Given the description of an element on the screen output the (x, y) to click on. 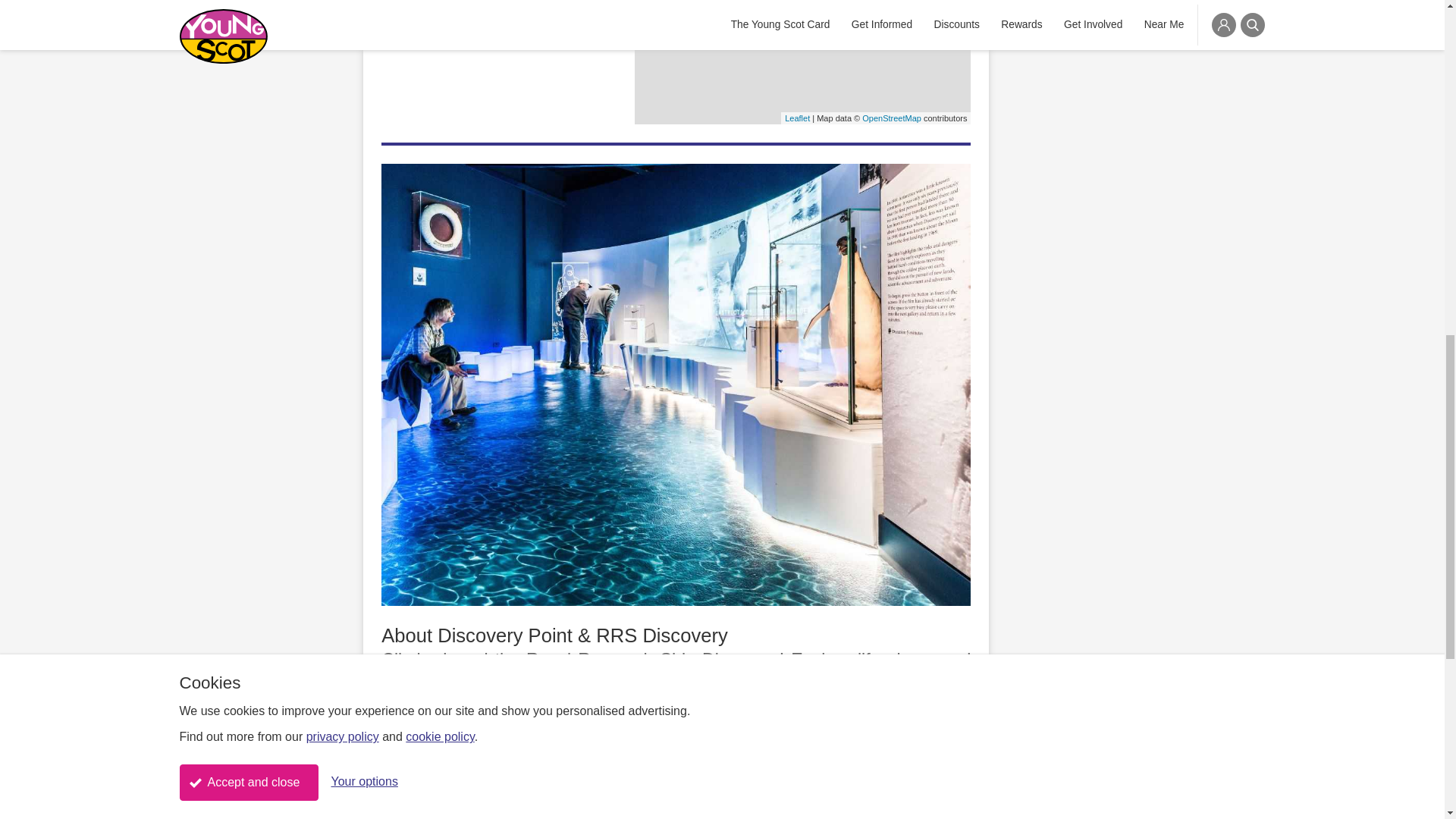
Leaflet (796, 117)
here (868, 792)
A JS library for interactive maps (796, 117)
OpenStreetMap (891, 117)
